Given the description of an element on the screen output the (x, y) to click on. 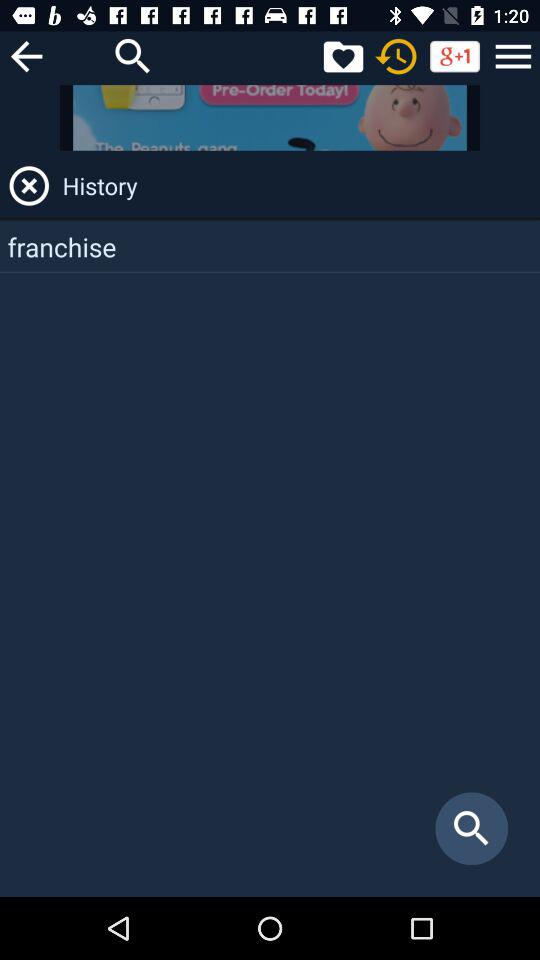
button to close option (29, 185)
